Given the description of an element on the screen output the (x, y) to click on. 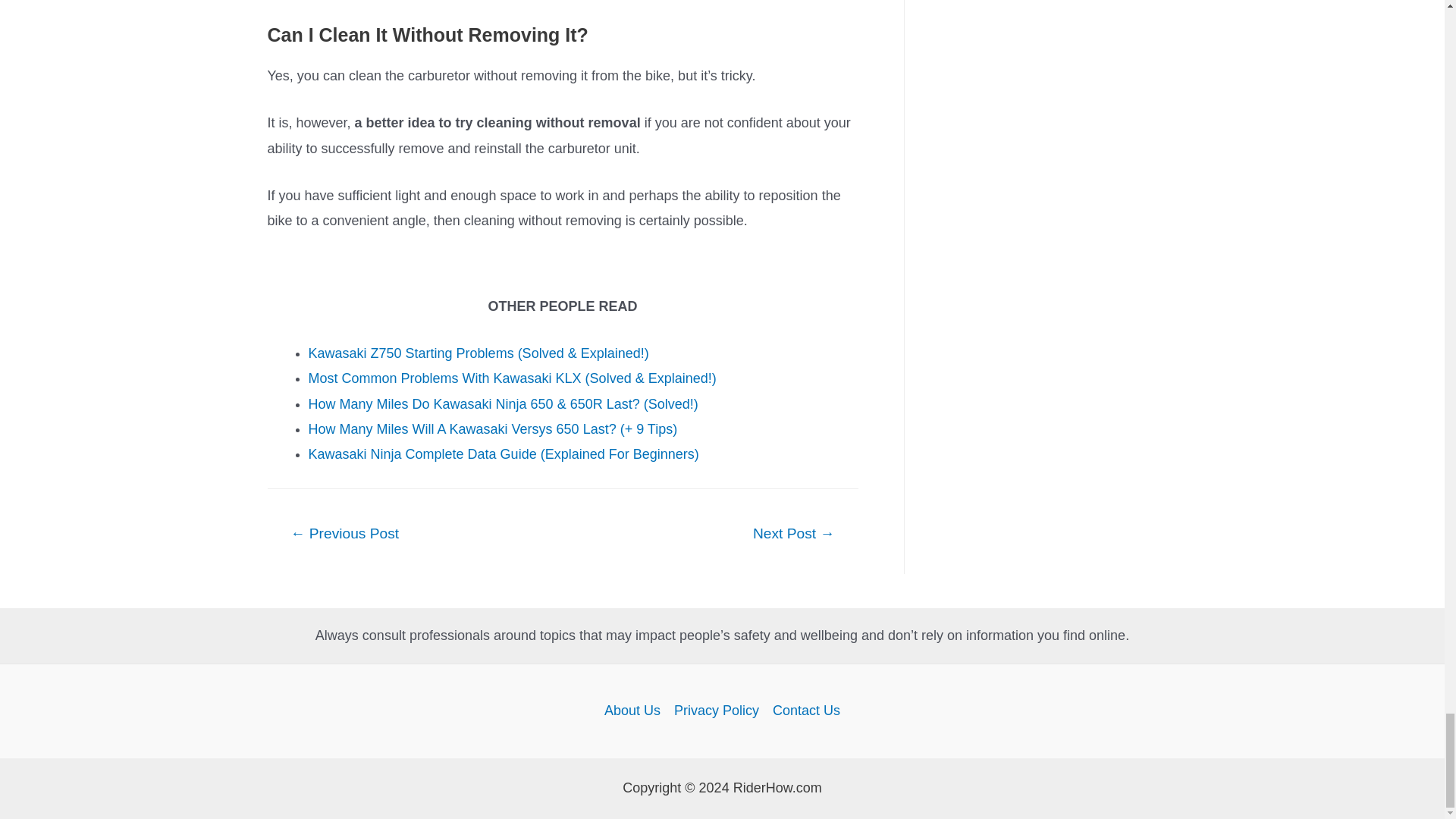
Privacy Policy (715, 710)
Contact Us (802, 710)
About Us (635, 710)
